Given the description of an element on the screen output the (x, y) to click on. 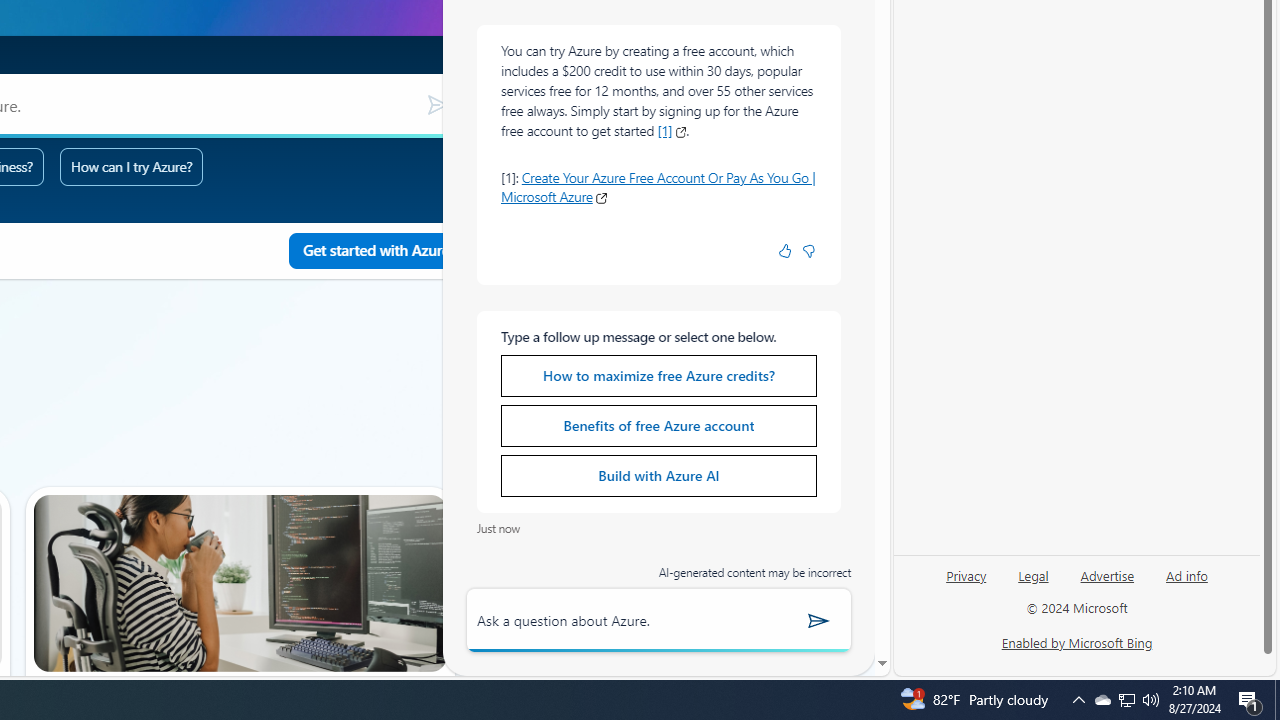
Submit (436, 105)
Legal (1033, 583)
Send (819, 620)
Privacy (965, 574)
Positive feedback badge icon (784, 251)
Get started with Pay as you go using Azure (376, 251)
[1] Opens in a new window; external. (671, 130)
Ad info (1186, 583)
